Given the description of an element on the screen output the (x, y) to click on. 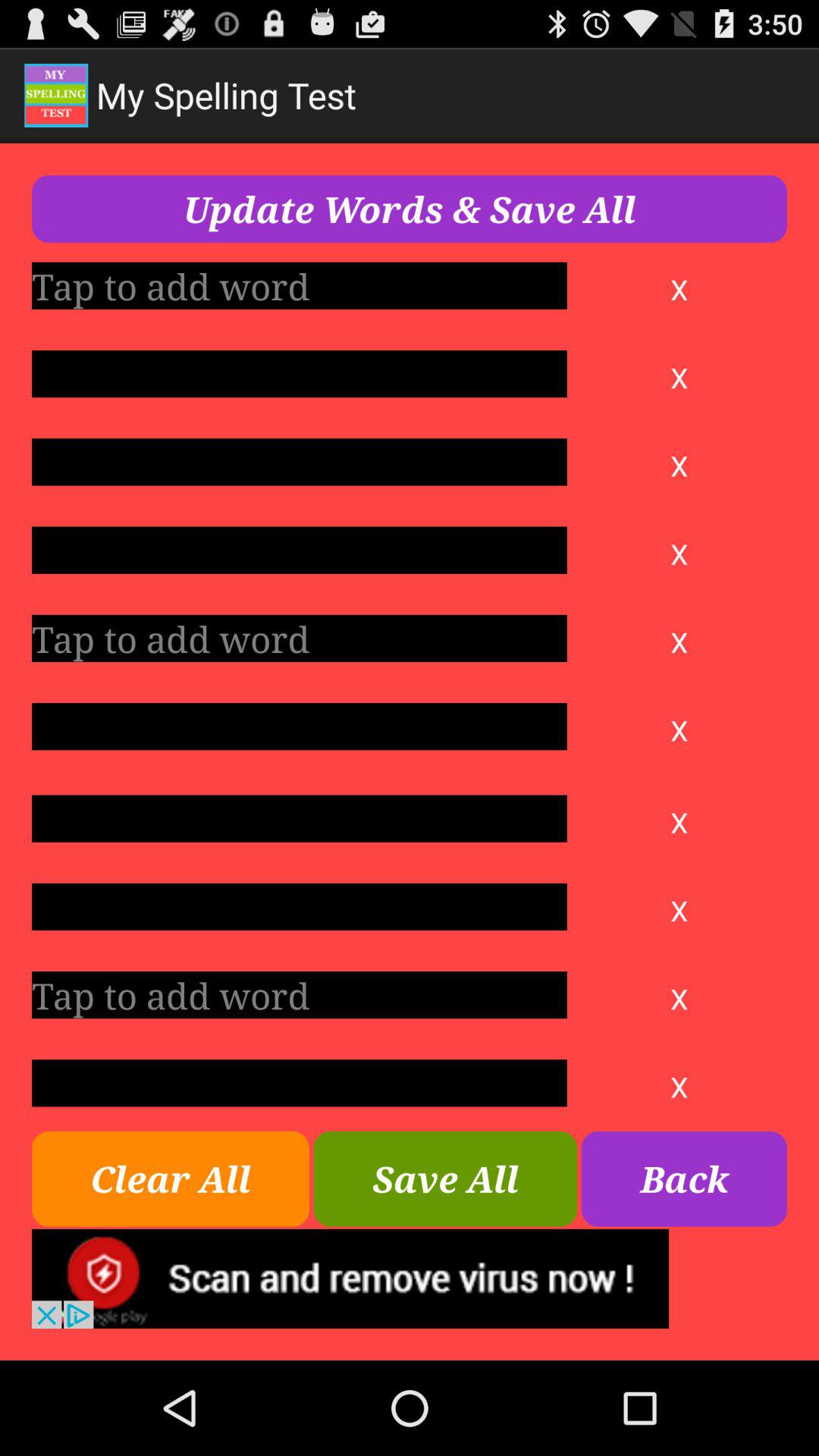
go to search box (299, 994)
